Given the description of an element on the screen output the (x, y) to click on. 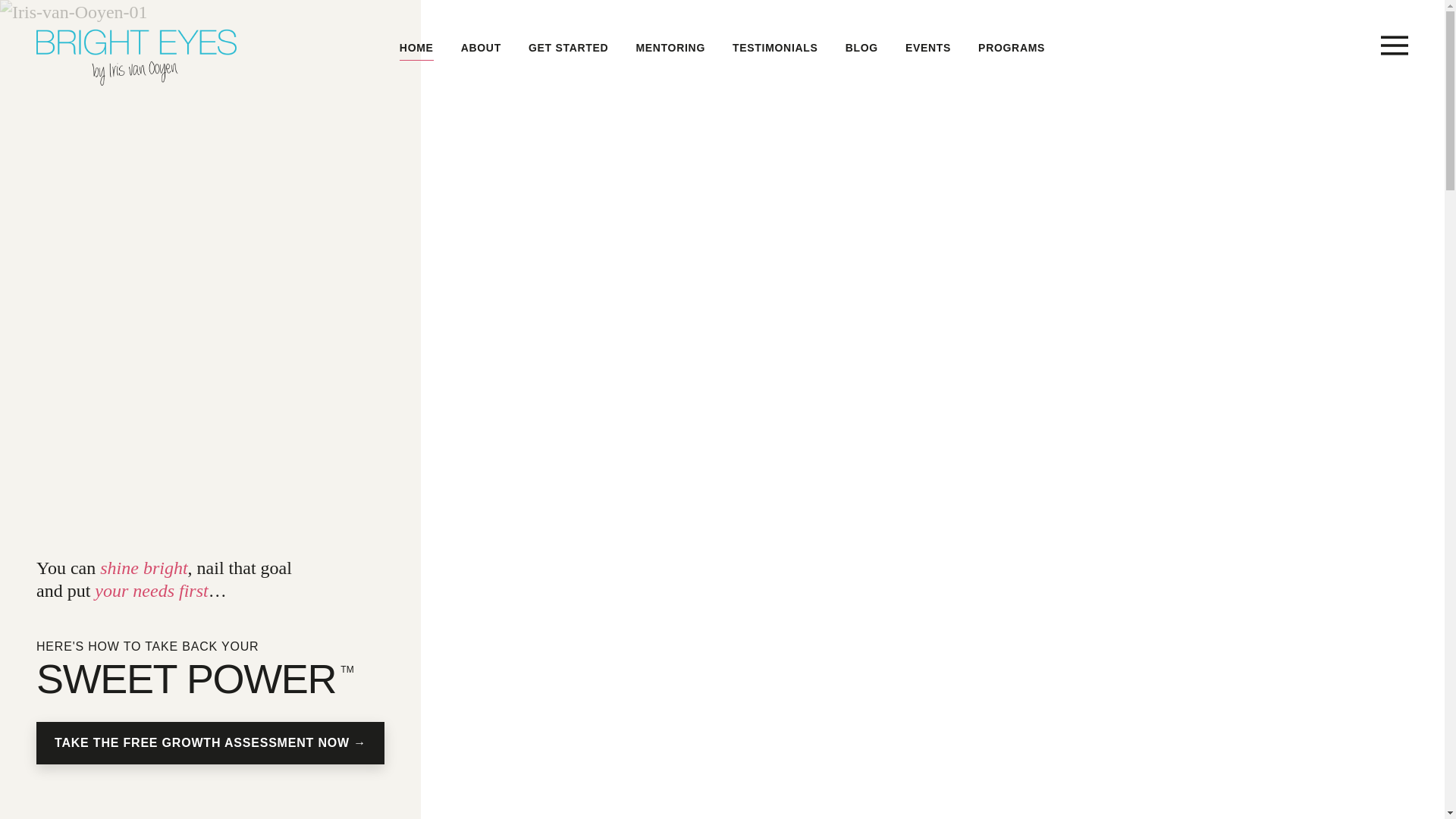
EVENTS Element type: text (927, 47)
GET STARTED Element type: text (568, 47)
MENTORING Element type: text (670, 47)
BLOG Element type: text (861, 47)
TESTIMONIALS Element type: text (775, 47)
ABOUT Element type: text (481, 47)
PROGRAMS Element type: text (1011, 47)
HOME Element type: text (416, 48)
